Given the description of an element on the screen output the (x, y) to click on. 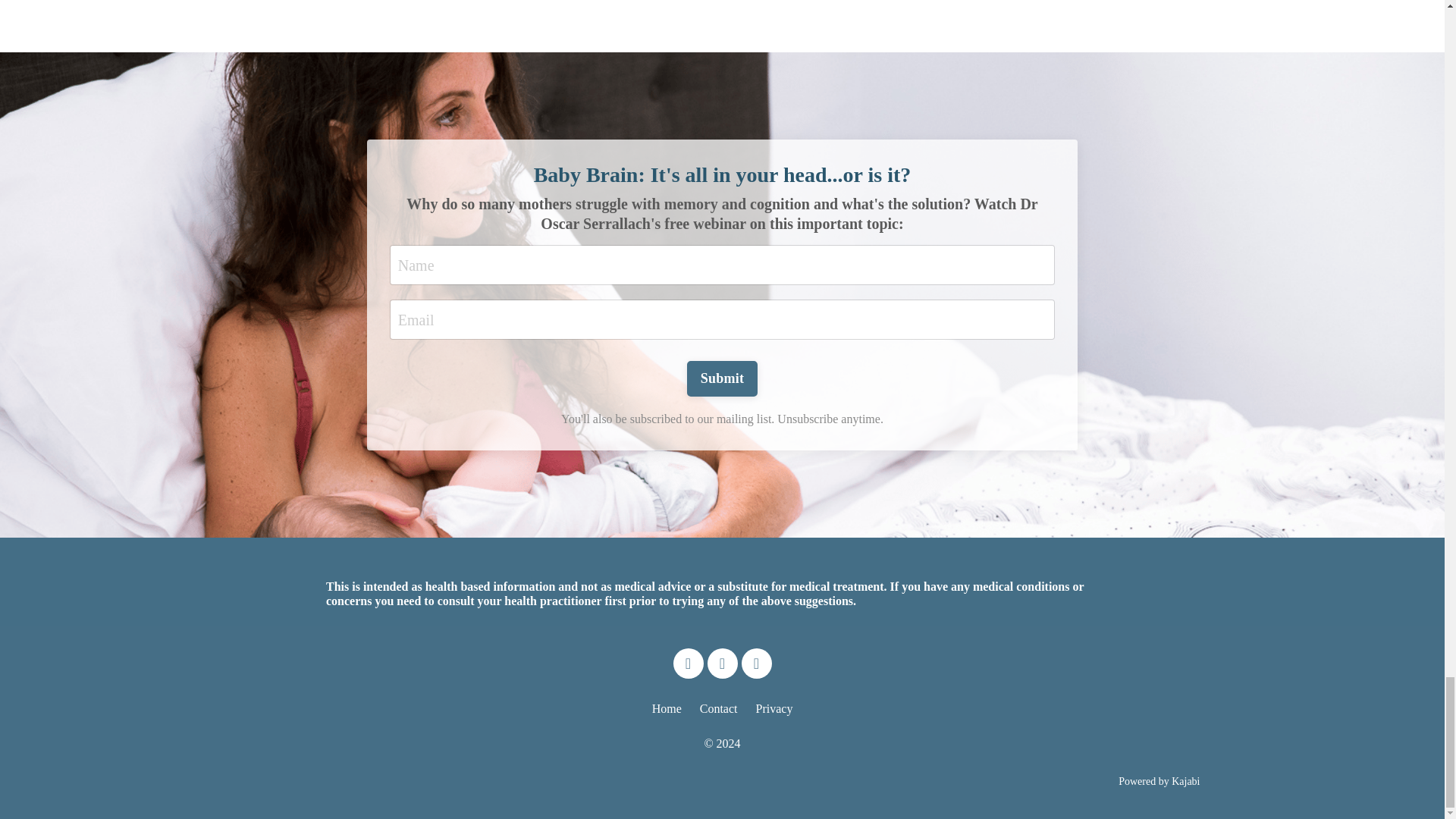
Powered by Kajabi (1158, 781)
Submit (722, 378)
Contact (719, 707)
Home (666, 707)
Privacy (773, 707)
